Given the description of an element on the screen output the (x, y) to click on. 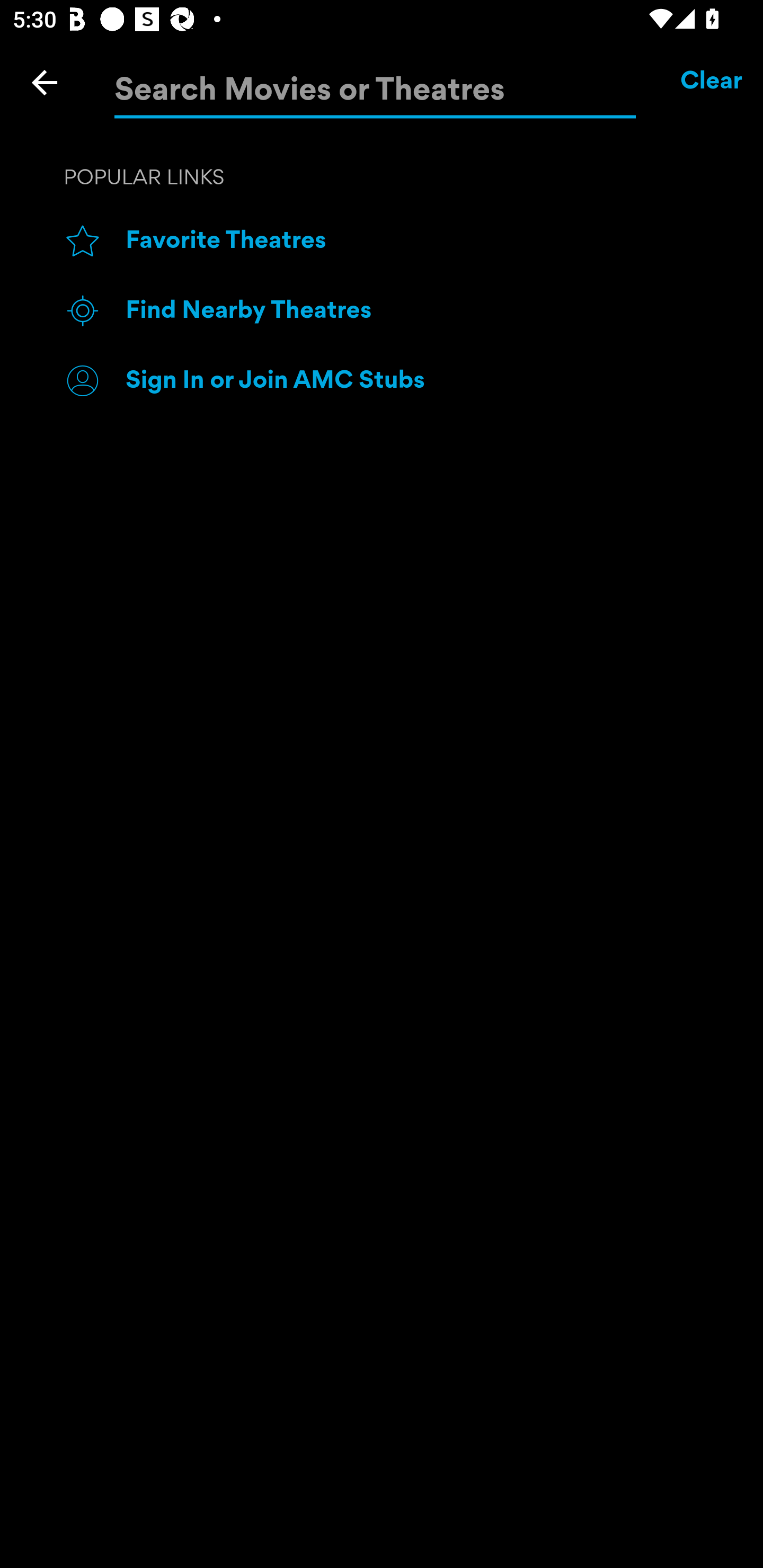
Back (44, 82)
Clear (712, 82)
Favorite Theatres (413, 241)
Find Nearby Theatres (413, 310)
Sign In or Join AMC Stubs (413, 380)
